Given the description of an element on the screen output the (x, y) to click on. 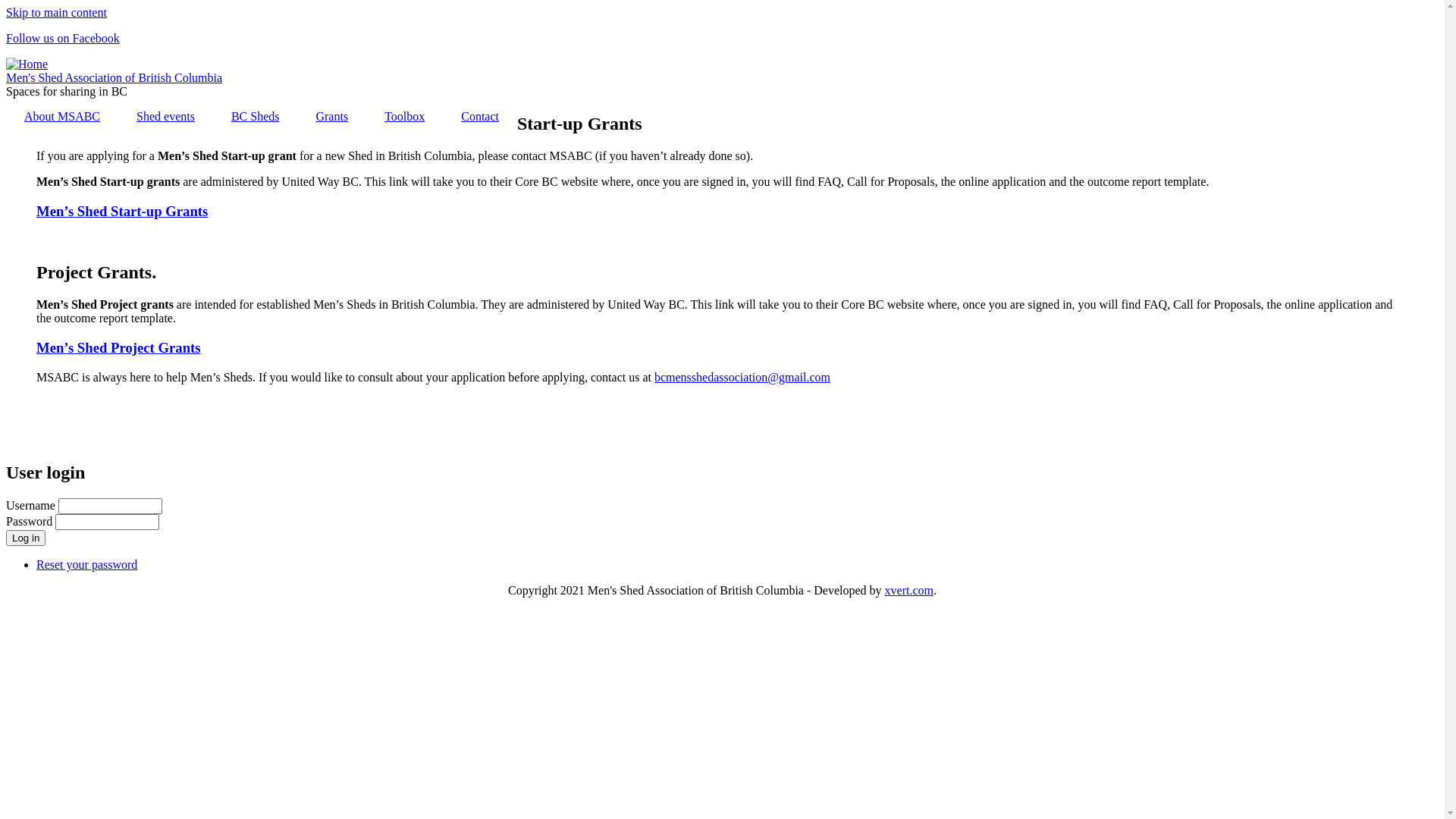
xvert.com Element type: text (908, 589)
bcmensshedassociation@gmail.com Element type: text (742, 376)
Log in Element type: text (25, 538)
Follow us on Facebook Element type: text (62, 37)
Reset your password Element type: text (86, 564)
BC Sheds Element type: text (255, 116)
About MSABC Element type: text (62, 116)
Shed events Element type: text (165, 116)
Toolbox Element type: text (404, 116)
Grants Element type: text (331, 116)
Men's Shed Association of British Columbia Element type: text (114, 77)
Skip to main content Element type: text (56, 12)
Contact Element type: text (479, 116)
